Given the description of an element on the screen output the (x, y) to click on. 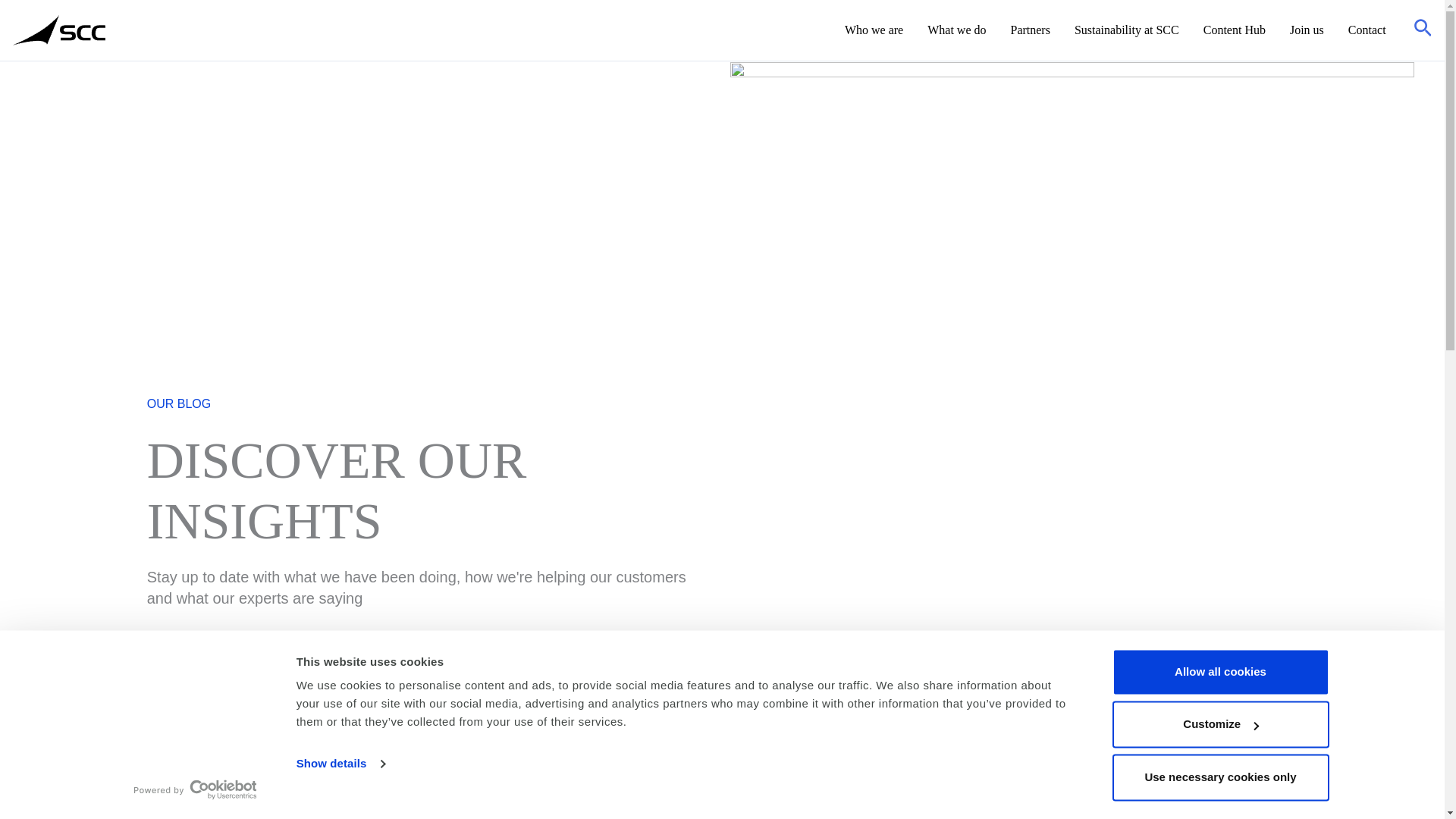
Show details (340, 763)
